Given the description of an element on the screen output the (x, y) to click on. 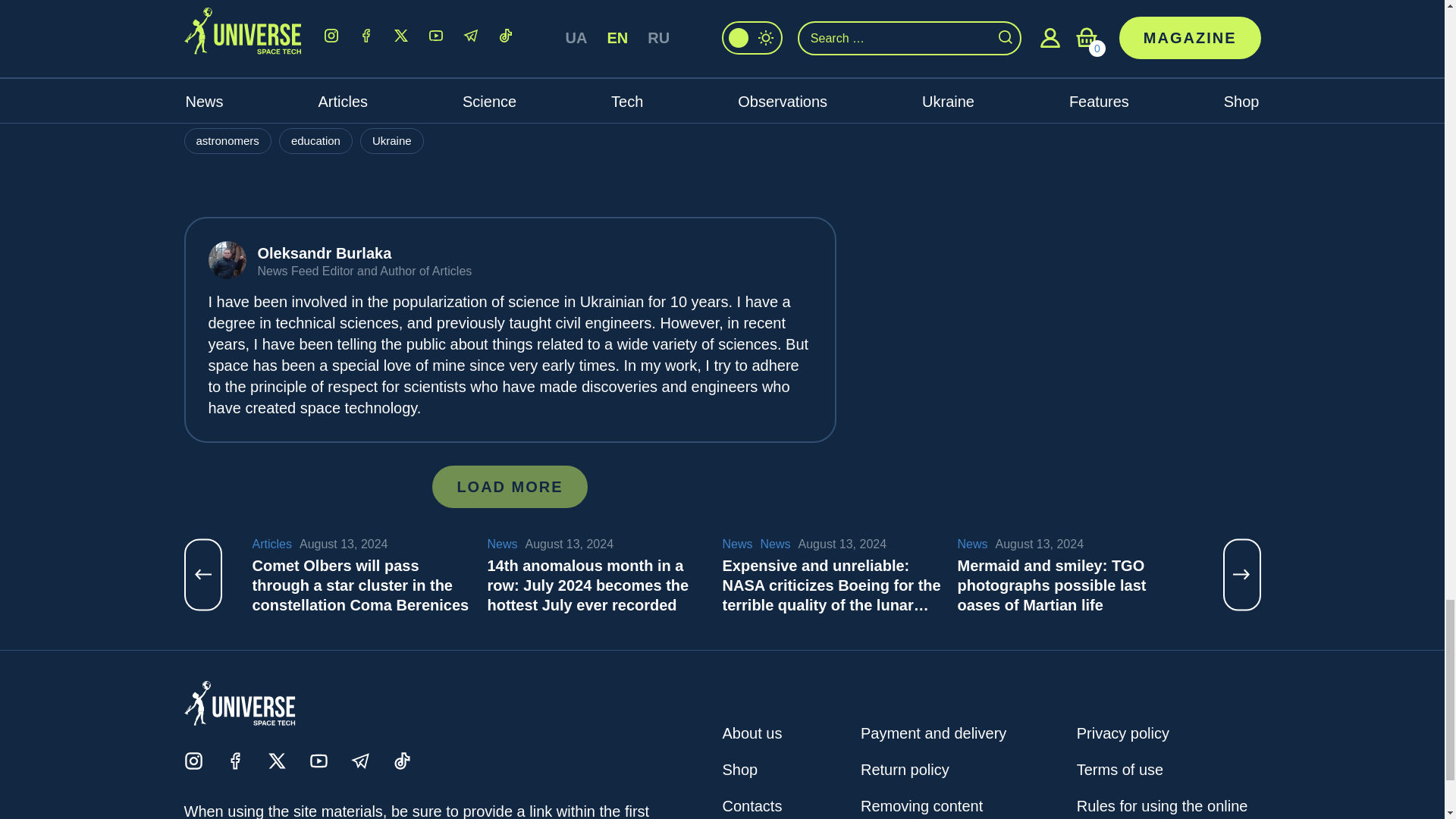
Ukraine (391, 140)
education (315, 140)
astronomers (226, 140)
